Given the description of an element on the screen output the (x, y) to click on. 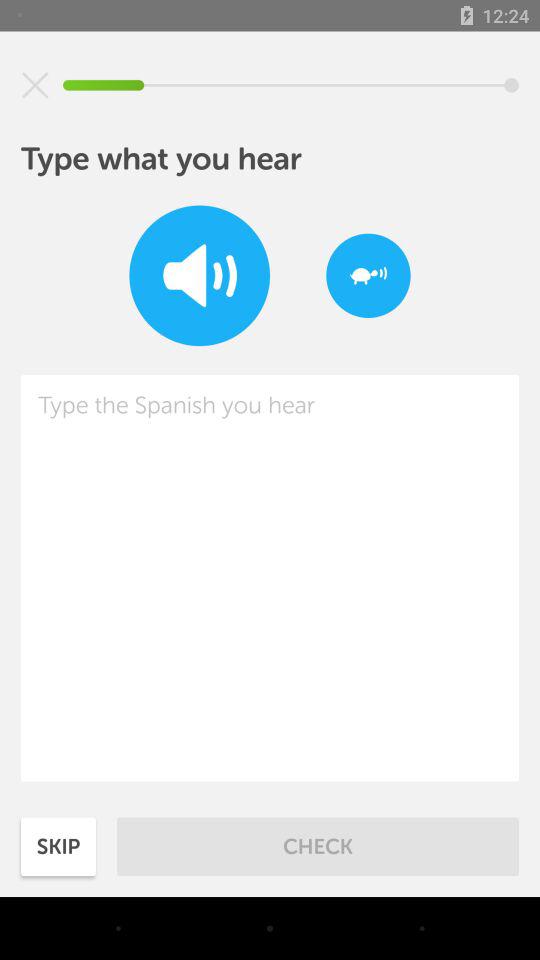
turn on the item to the right of the skip item (318, 846)
